Given the description of an element on the screen output the (x, y) to click on. 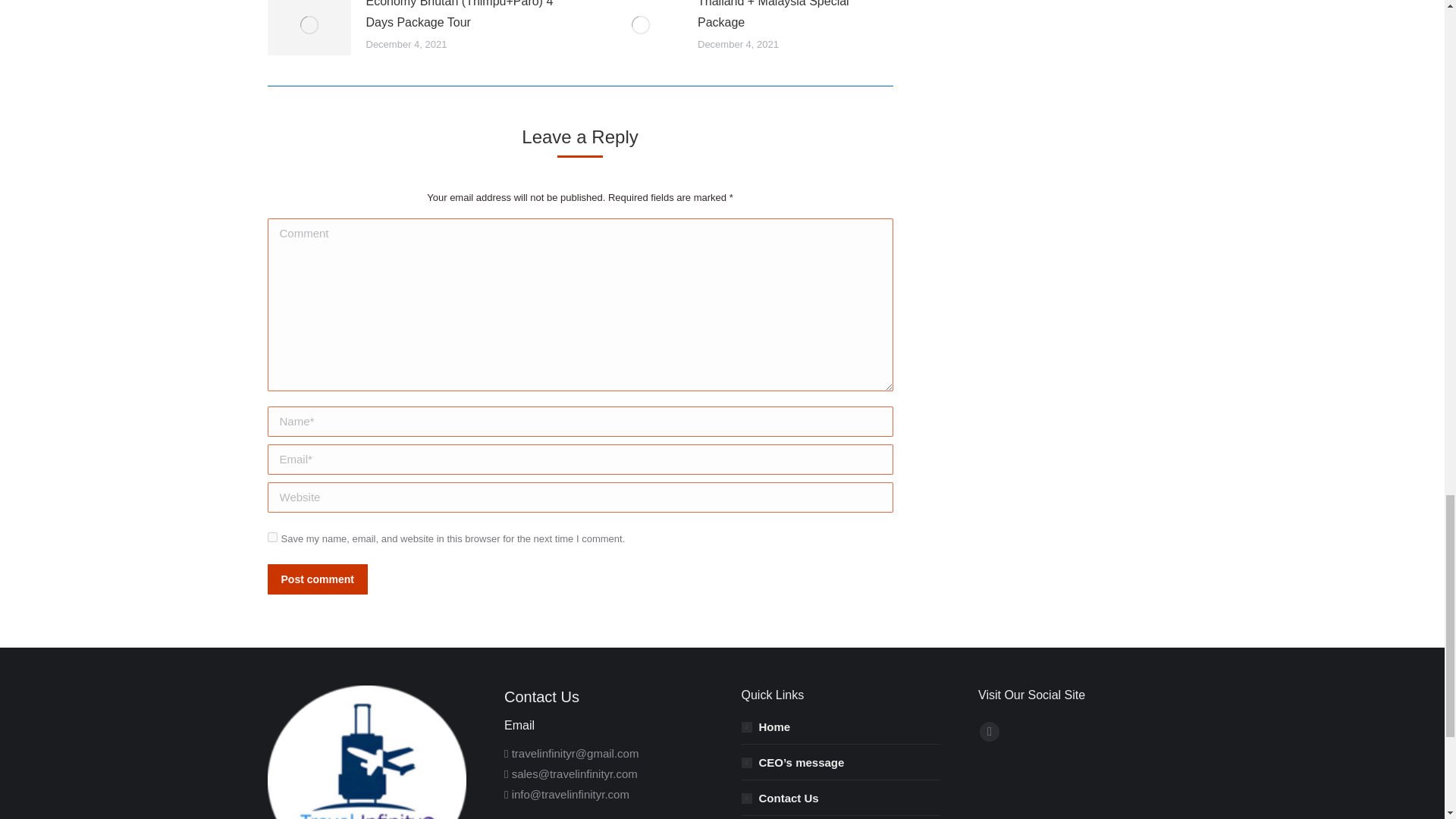
yes (271, 537)
Facebook page opens in new window (988, 731)
